Given the description of an element on the screen output the (x, y) to click on. 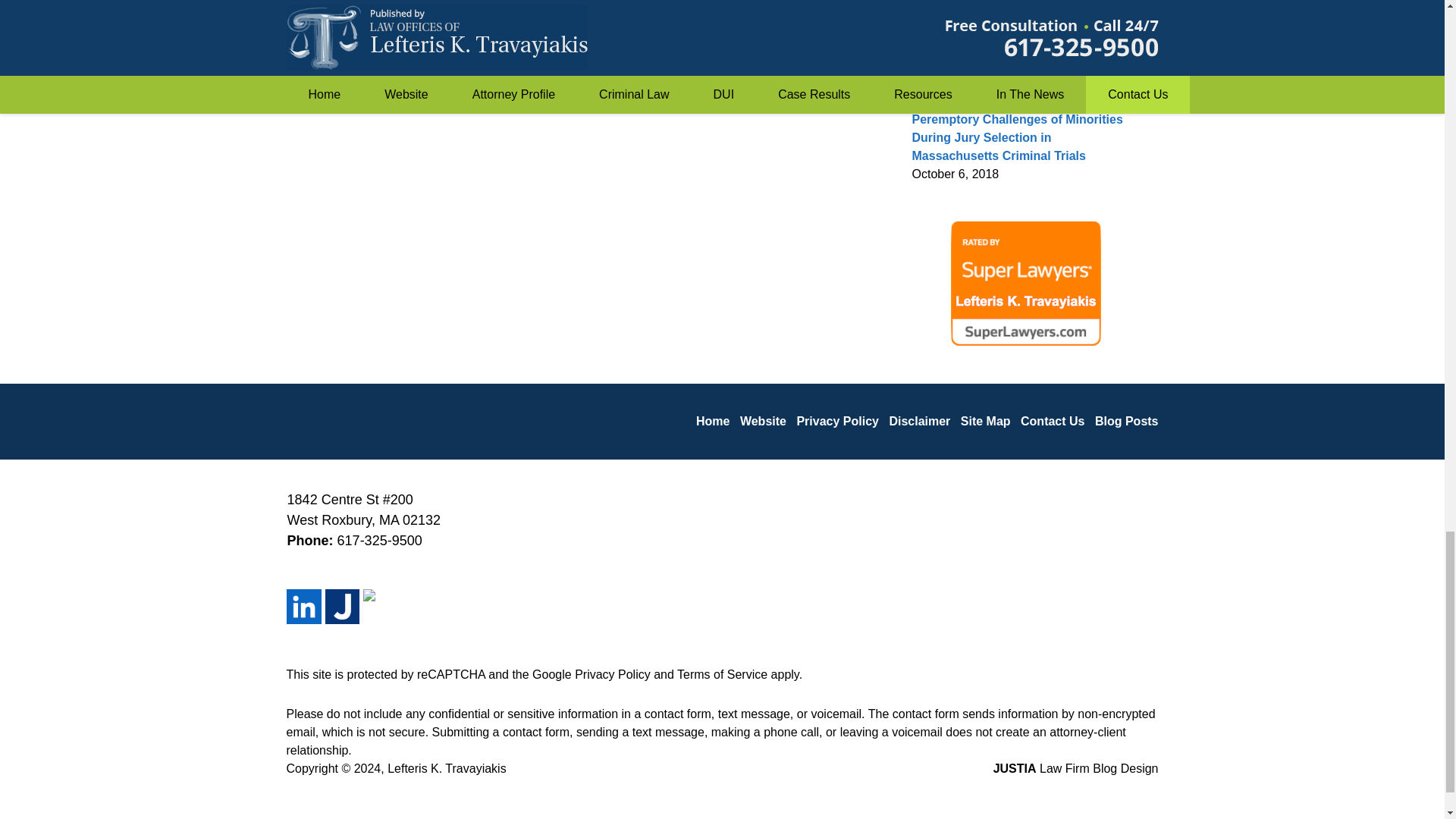
Justia (341, 606)
Feed (379, 606)
LinkedIn (303, 606)
